Given the description of an element on the screen output the (x, y) to click on. 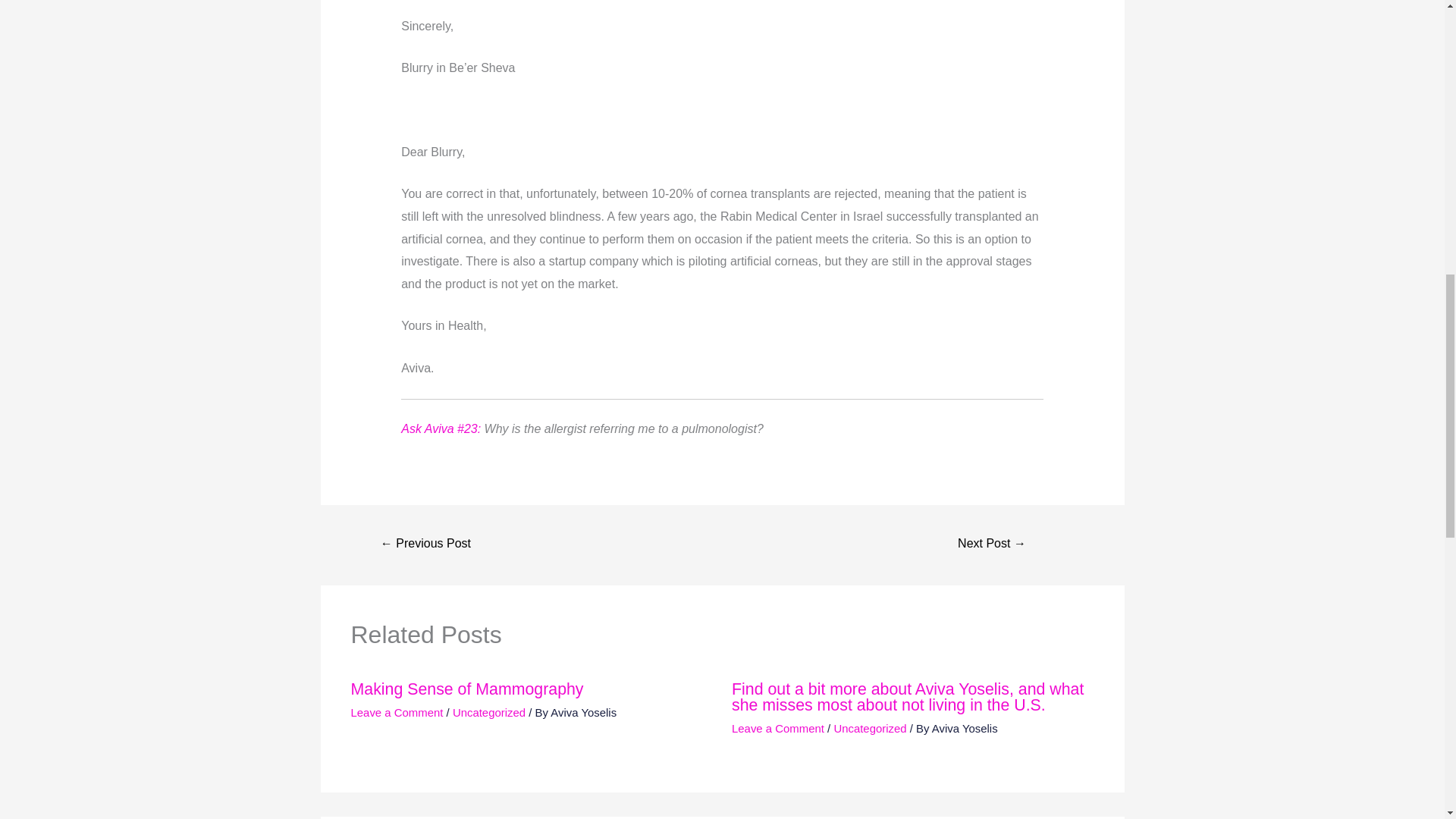
Leave a Comment (778, 727)
Making Sense of Mammography (466, 689)
Aviva Yoselis (582, 711)
View all posts by Aviva Yoselis (582, 711)
View all posts by Aviva Yoselis (964, 727)
A Tribute to One of the Bravest Girls I Ever Knew (991, 544)
What I Learned From Making My Own Underground Map (425, 544)
Leave a Comment (396, 711)
Uncategorized (868, 727)
